Given the description of an element on the screen output the (x, y) to click on. 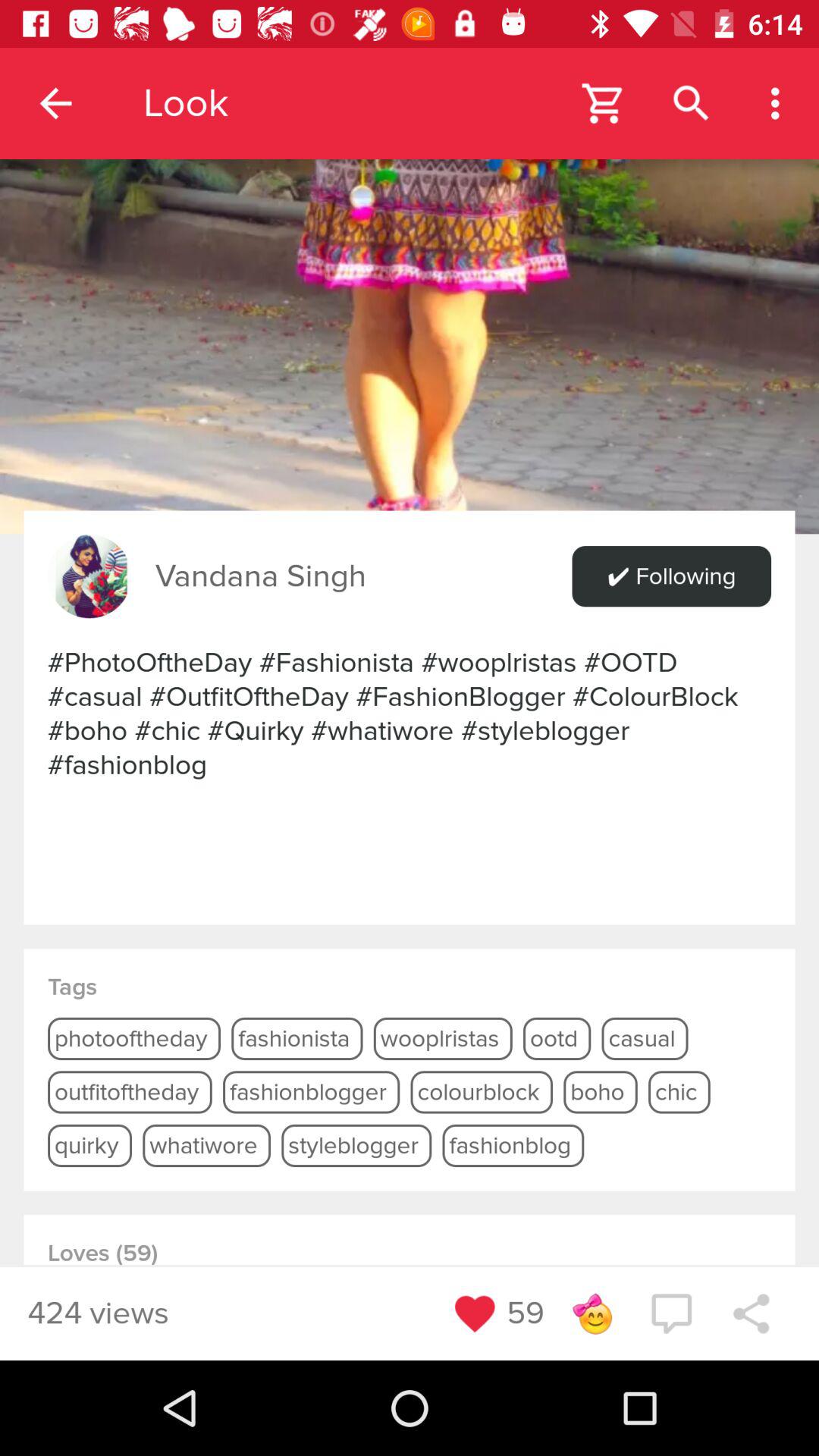
share image (409, 267)
